Given the description of an element on the screen output the (x, y) to click on. 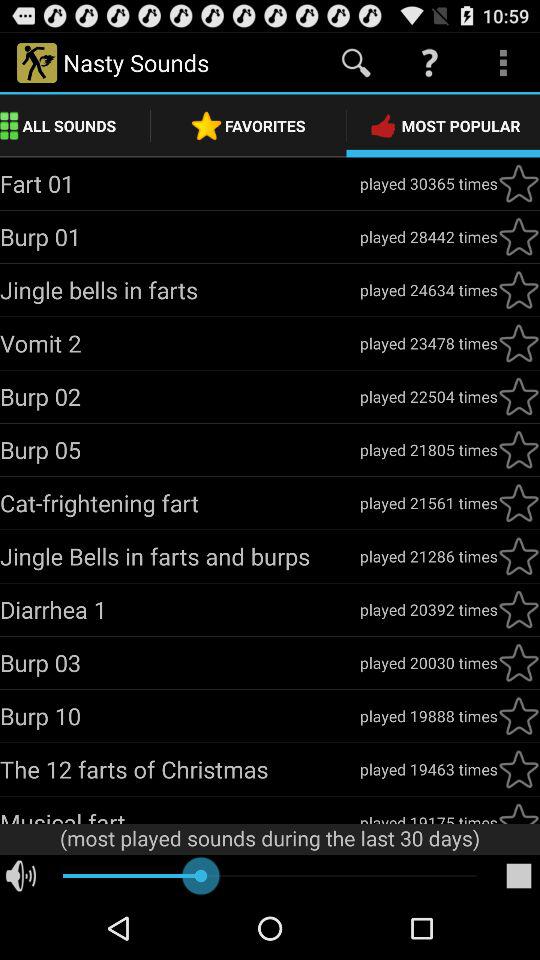
scroll until the played 21805 times app (428, 449)
